Given the description of an element on the screen output the (x, y) to click on. 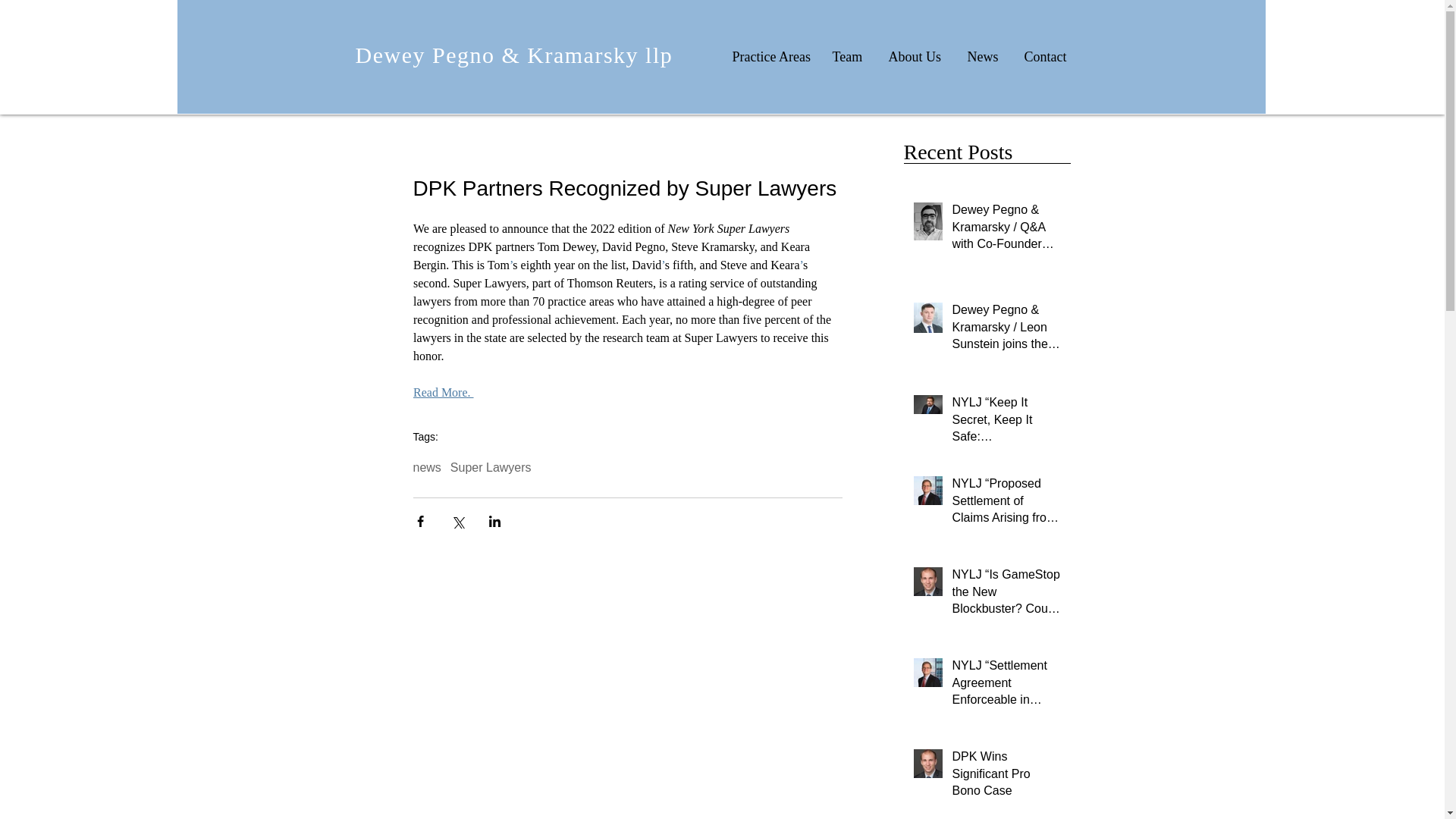
Super Lawyers (490, 468)
Team (846, 56)
News (981, 56)
Read More.  (442, 391)
Practice Areas (768, 56)
DPK Wins Significant Pro Bono Case (1006, 776)
About Us (914, 56)
Contact (1045, 56)
news (426, 468)
